Given the description of an element on the screen output the (x, y) to click on. 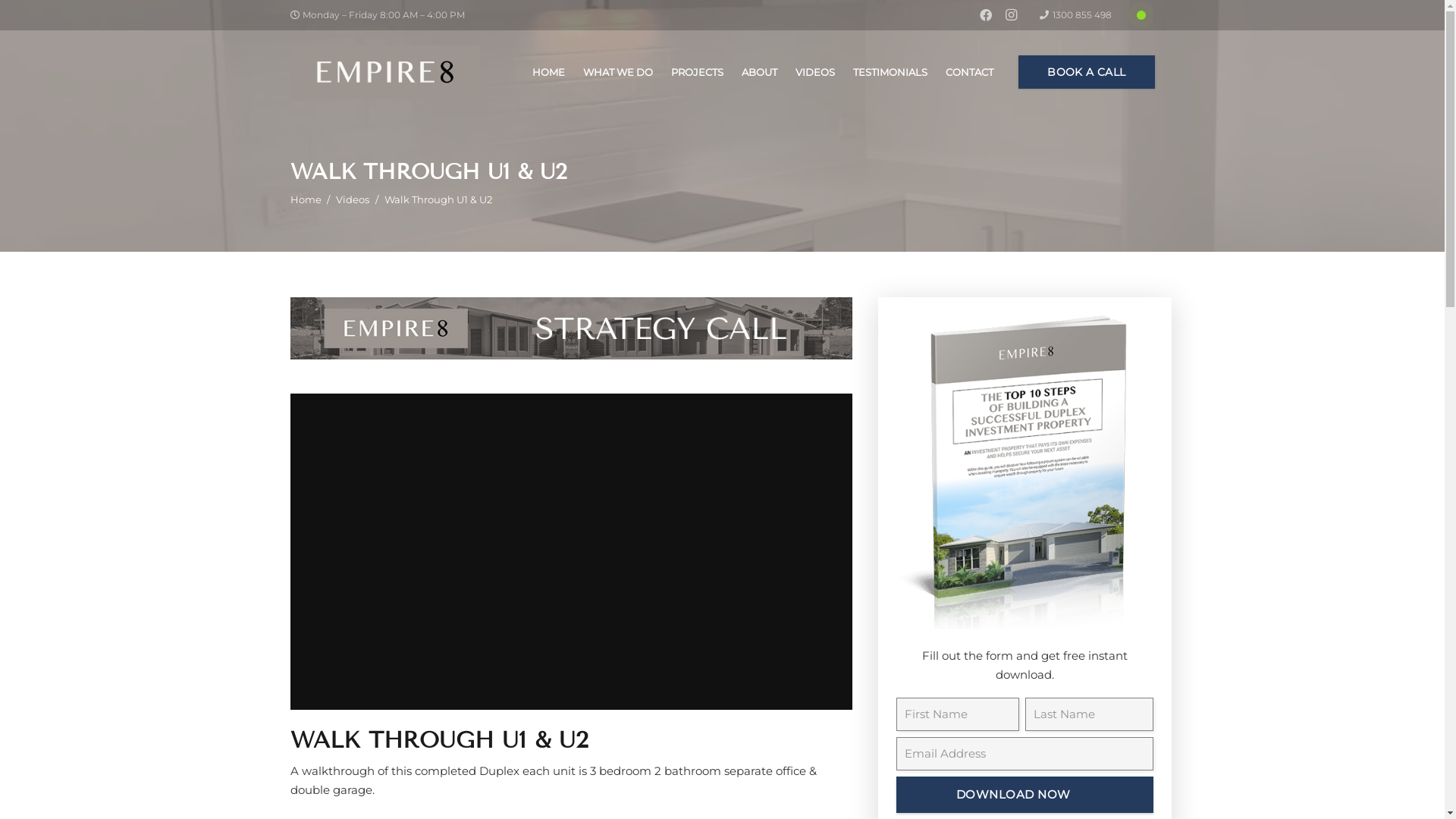
Youtube video player Element type: hover (570, 551)
ABOUT Element type: text (759, 71)
Walk Through U1 & U2 Element type: text (438, 199)
1300 855 498 Element type: text (1075, 14)
BOOK A CALL Element type: text (1086, 72)
Home Element type: text (304, 199)
WHAT WE DO Element type: text (618, 71)
HOME Element type: text (548, 71)
Videos Element type: text (352, 199)
VIDEOS Element type: text (815, 71)
TESTIMONIALS Element type: text (890, 71)
Download Now Element type: text (1024, 794)
Facebook Element type: hover (985, 15)
Instagram Element type: hover (1011, 15)
CONTACT Element type: text (969, 71)
Book Free Strategy Call Element type: hover (570, 328)
PROJECTS Element type: text (697, 71)
